Given the description of an element on the screen output the (x, y) to click on. 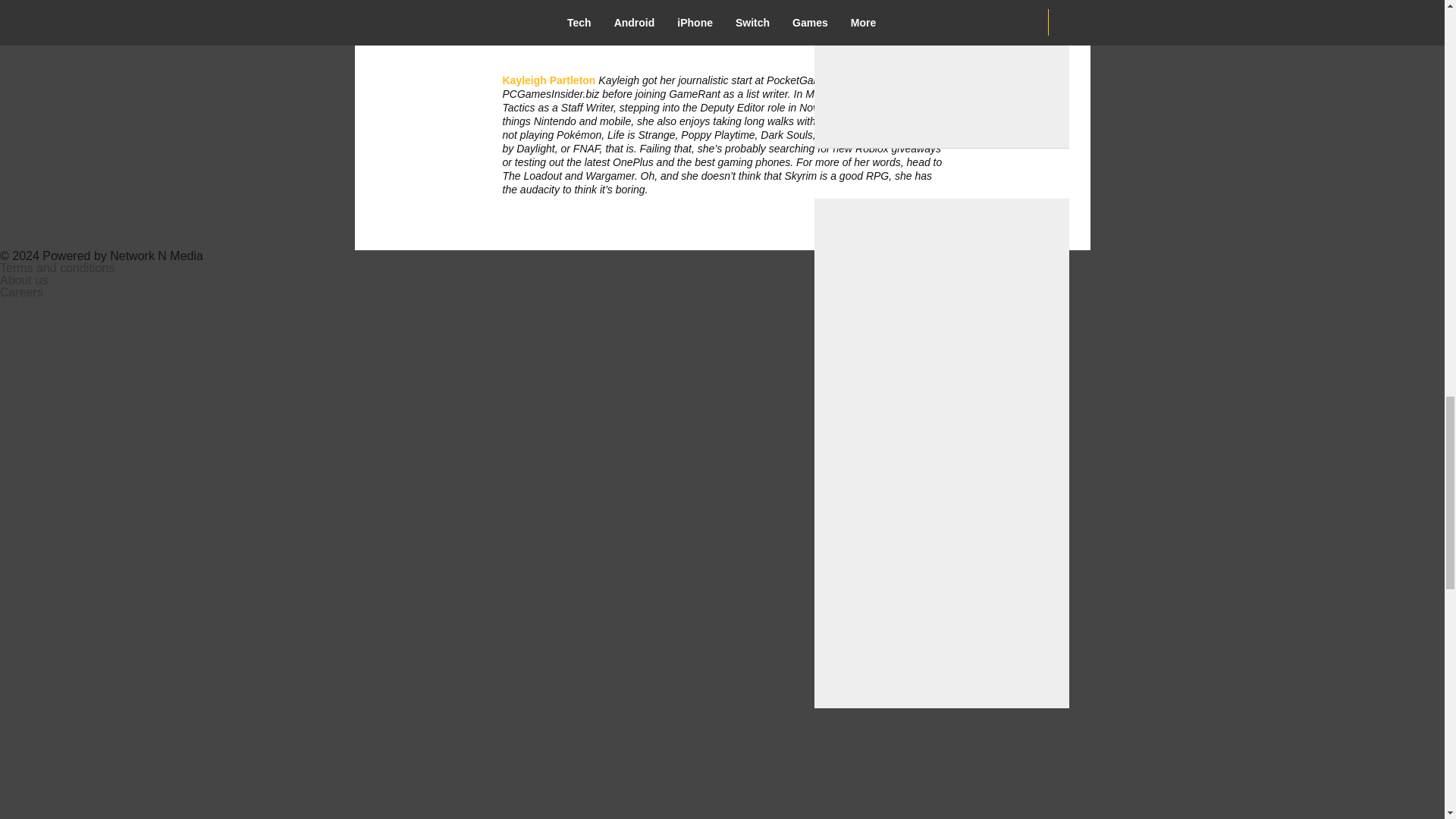
Guardian Tales tier list (622, 14)
Careers (21, 291)
Guardian Tales codes (662, 0)
About us (24, 279)
Kayleigh Partleton (548, 79)
Terms and conditions (57, 267)
